Given the description of an element on the screen output the (x, y) to click on. 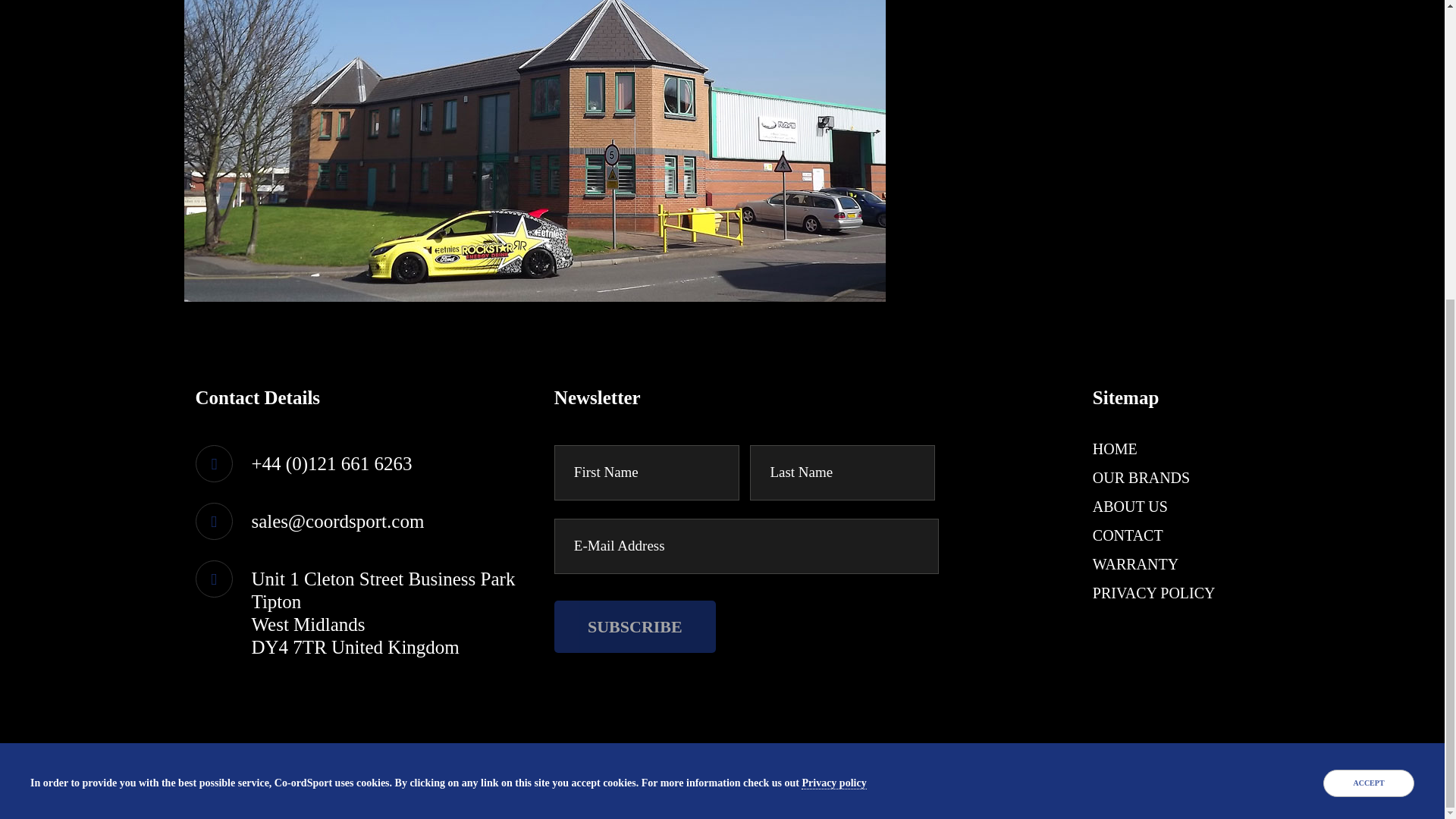
WARRANTY (1135, 564)
Privacy policy (834, 318)
HOME (1115, 449)
SUBSCRIBE (635, 626)
CONTACT (1128, 535)
OUR BRANDS (1141, 477)
ABOUT US (1130, 506)
ACCEPT (1368, 318)
PRIVACY POLICY (1154, 593)
